Given the description of an element on the screen output the (x, y) to click on. 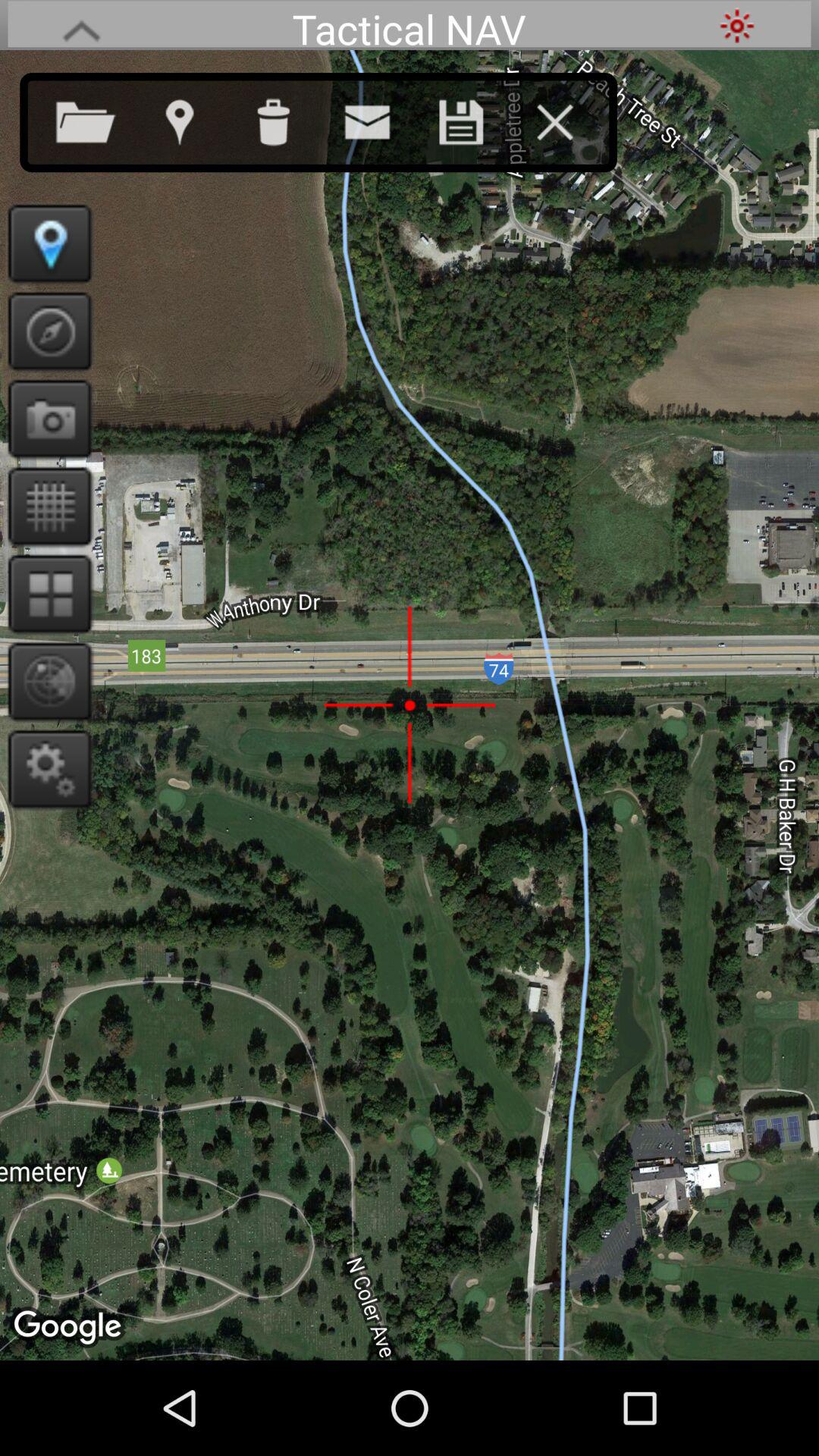
press app below tactical nav app (288, 119)
